Given the description of an element on the screen output the (x, y) to click on. 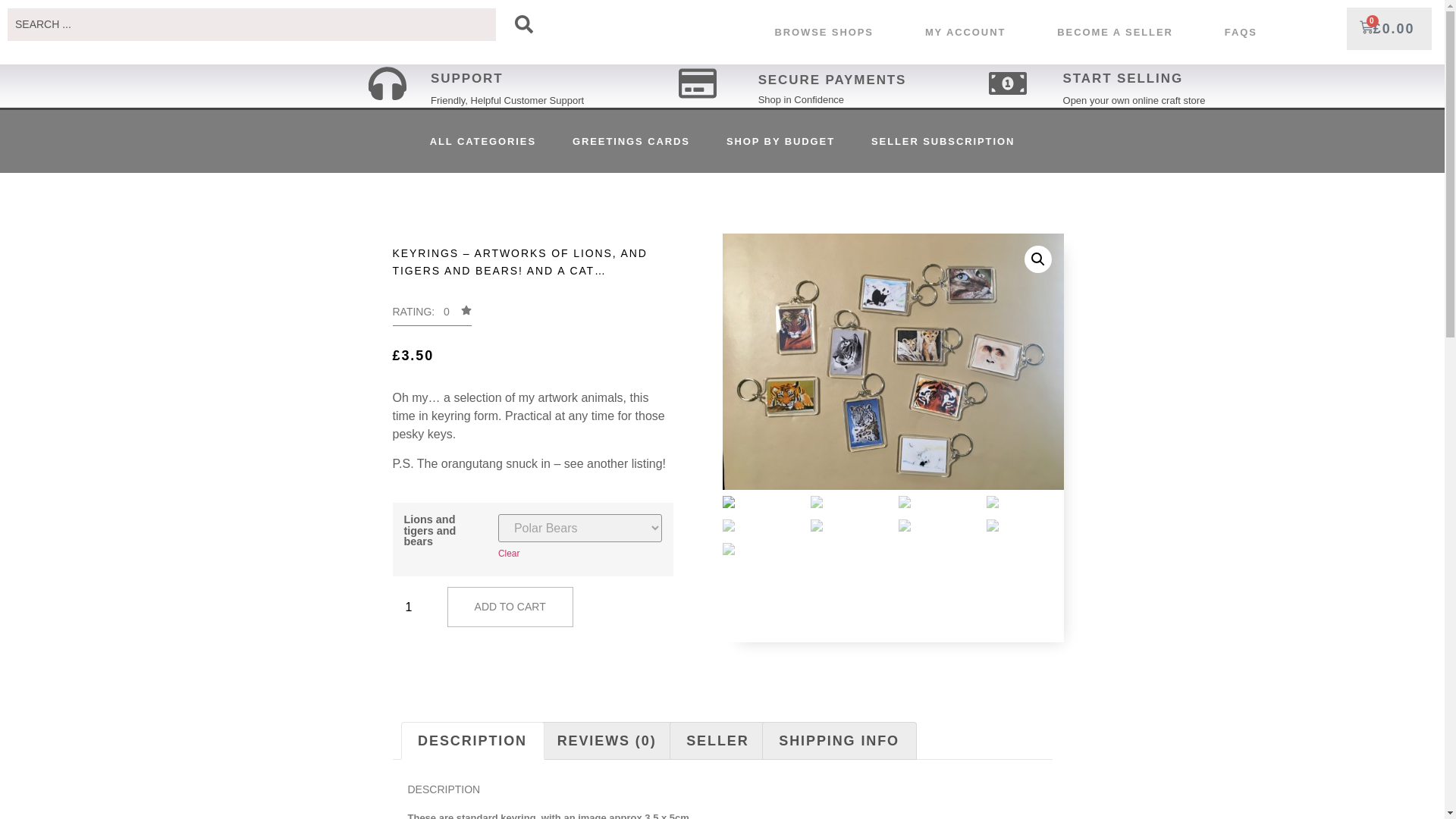
SUPPORT (466, 78)
MY ACCOUNT (964, 31)
BECOME A SELLER (1114, 31)
FAQS (1240, 31)
1 (414, 607)
ALL CATEGORIES (483, 141)
BROWSE SHOPS (823, 31)
START SELLING (1122, 78)
